Given the description of an element on the screen output the (x, y) to click on. 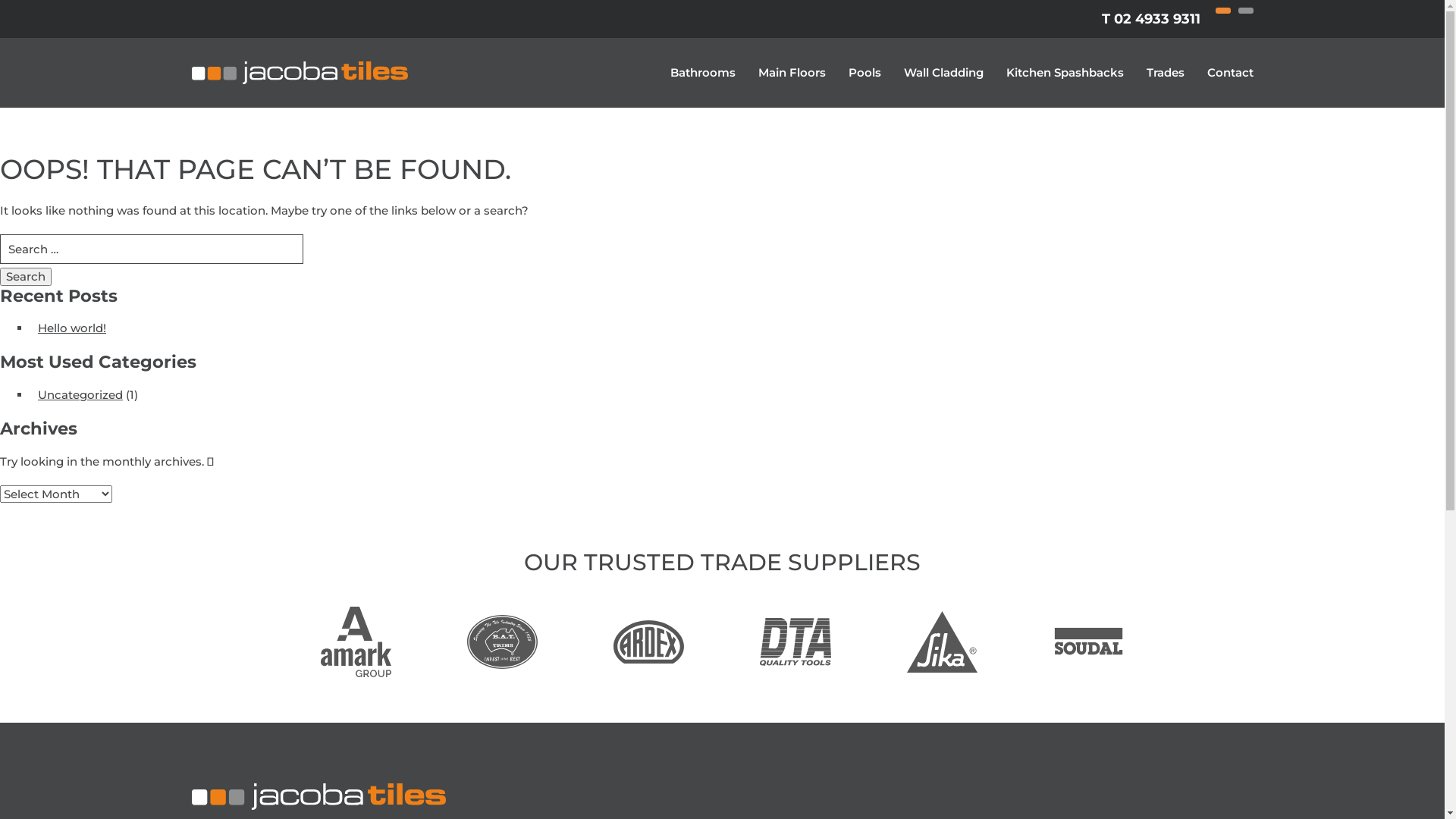
T 02 4933 9311 Element type: text (1150, 18)
Wall Cladding Element type: text (943, 72)
Contact Element type: text (1230, 72)
Trades Element type: text (1165, 72)
Skip to content Element type: text (0, 0)
Jacoba Tiles Element type: hover (721, 796)
Pools Element type: text (863, 72)
Jacoba Tiles Element type: hover (299, 72)
Uncategorized Element type: text (79, 394)
Search Element type: text (25, 276)
Hello world! Element type: text (71, 327)
Kitchen Spashbacks Element type: text (1064, 72)
Main Floors Element type: text (791, 72)
Bathrooms Element type: text (702, 72)
